Given the description of an element on the screen output the (x, y) to click on. 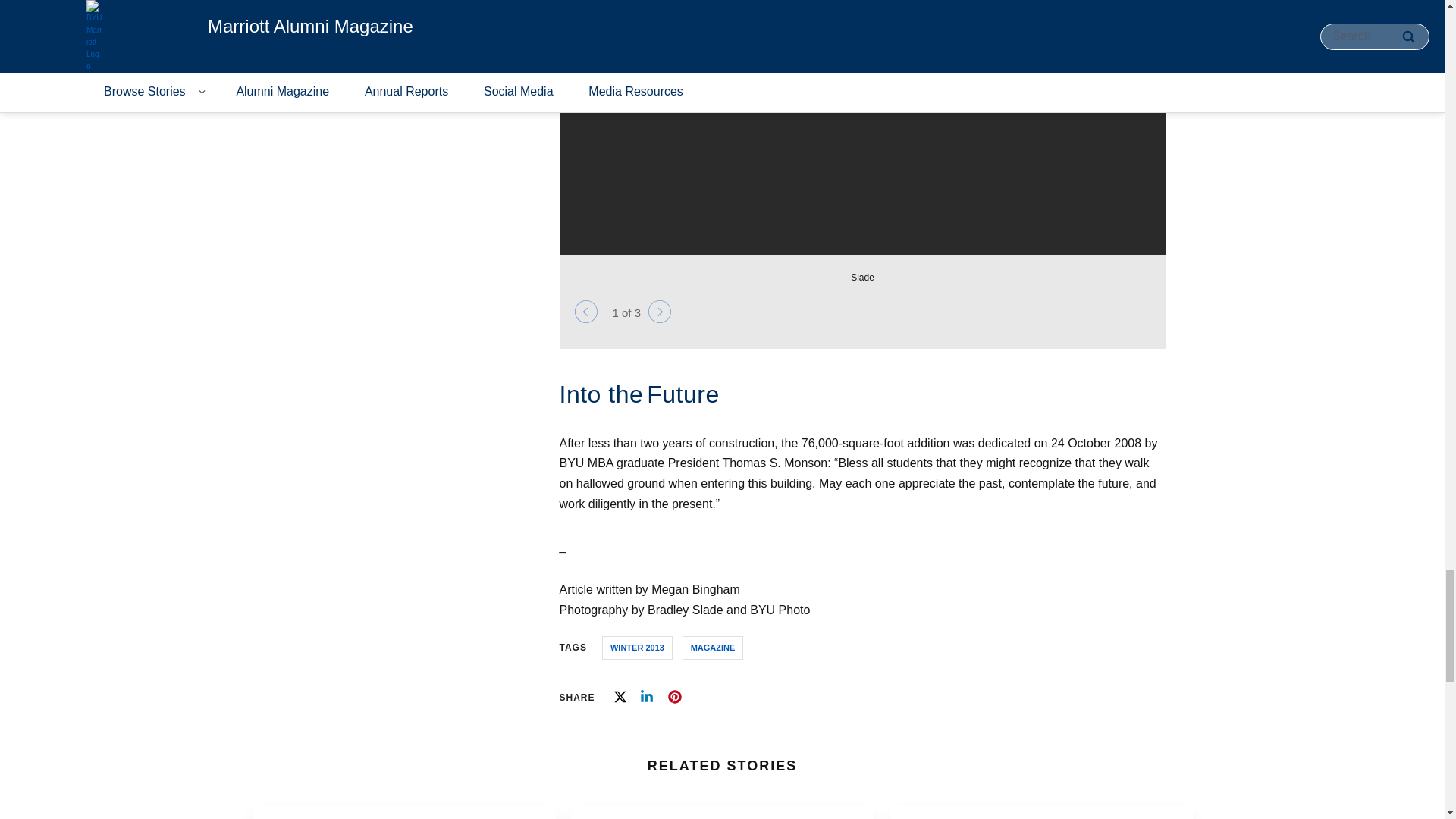
WINTER 2013 (637, 648)
MAGAZINE (713, 648)
Link to LinkedIn Page (646, 696)
Link to Pinterest Page (674, 696)
